Given the description of an element on the screen output the (x, y) to click on. 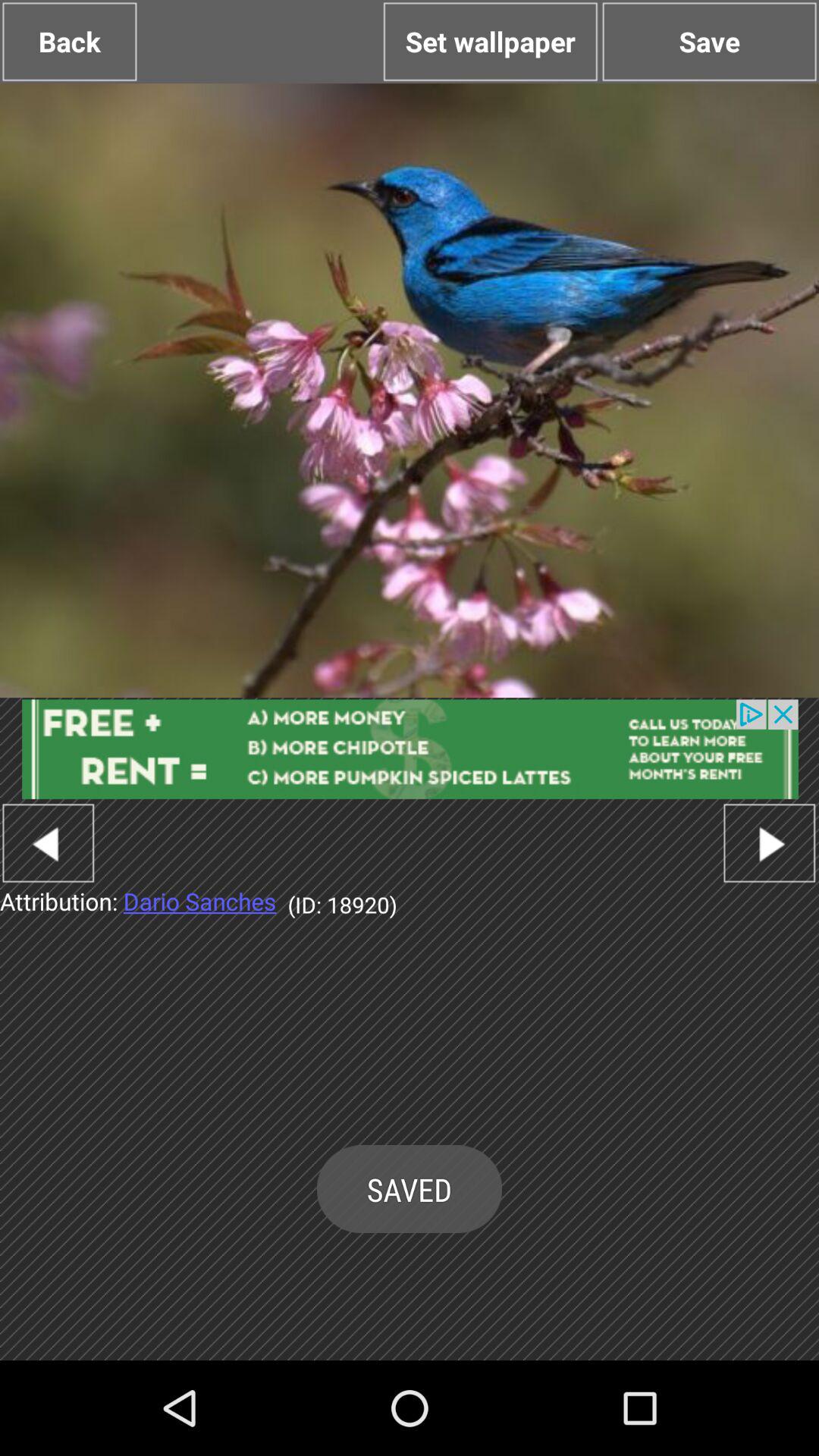
for next (769, 842)
